Given the description of an element on the screen output the (x, y) to click on. 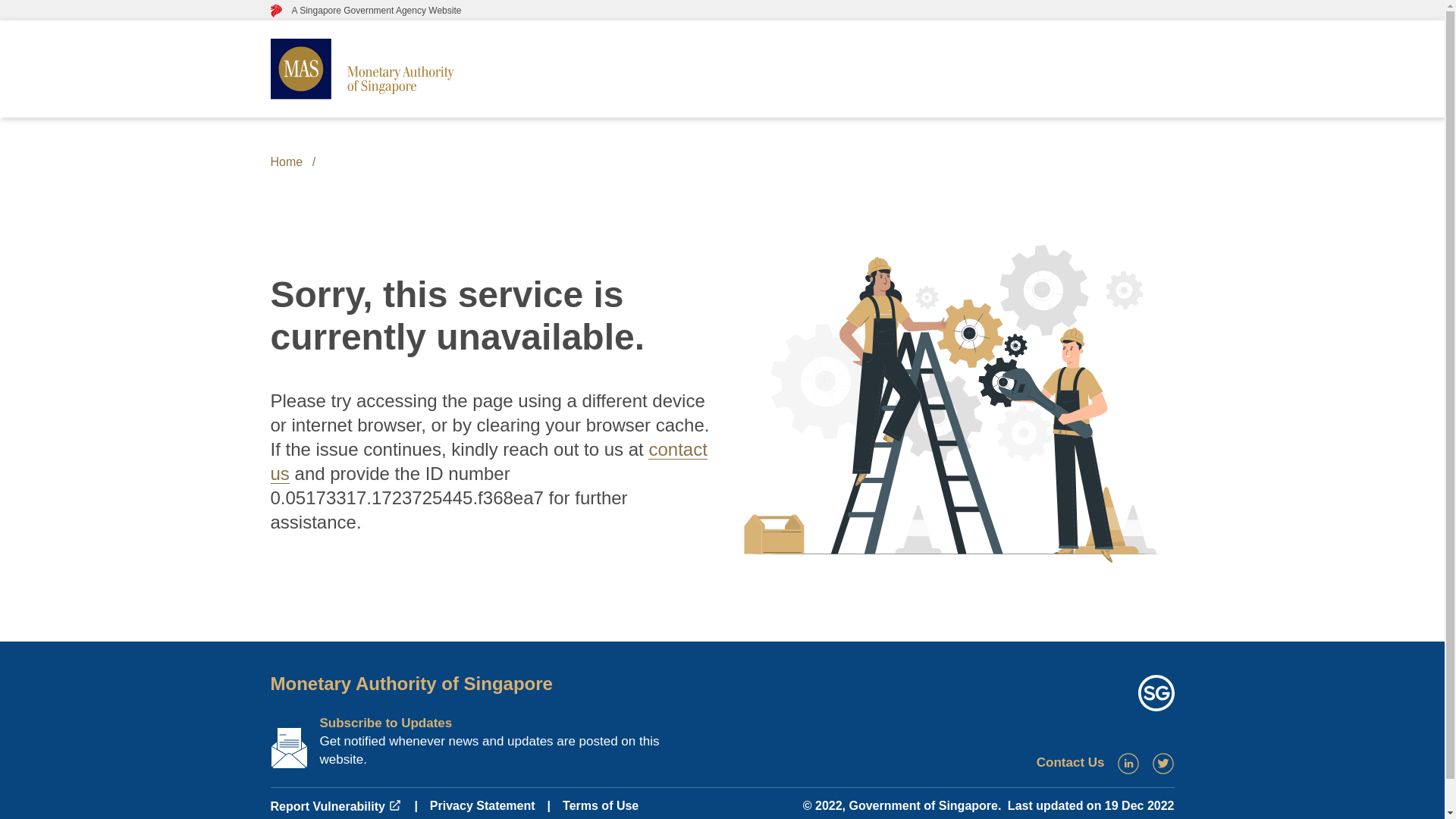
A Singapore Government Agency Website (365, 10)
Report Vulnerability (335, 806)
contact us (487, 461)
Contact Us (1070, 762)
Terms of Use (600, 805)
Monetary Authority of Singapore (410, 683)
Privacy Statement (482, 805)
Home (285, 161)
